Given the description of an element on the screen output the (x, y) to click on. 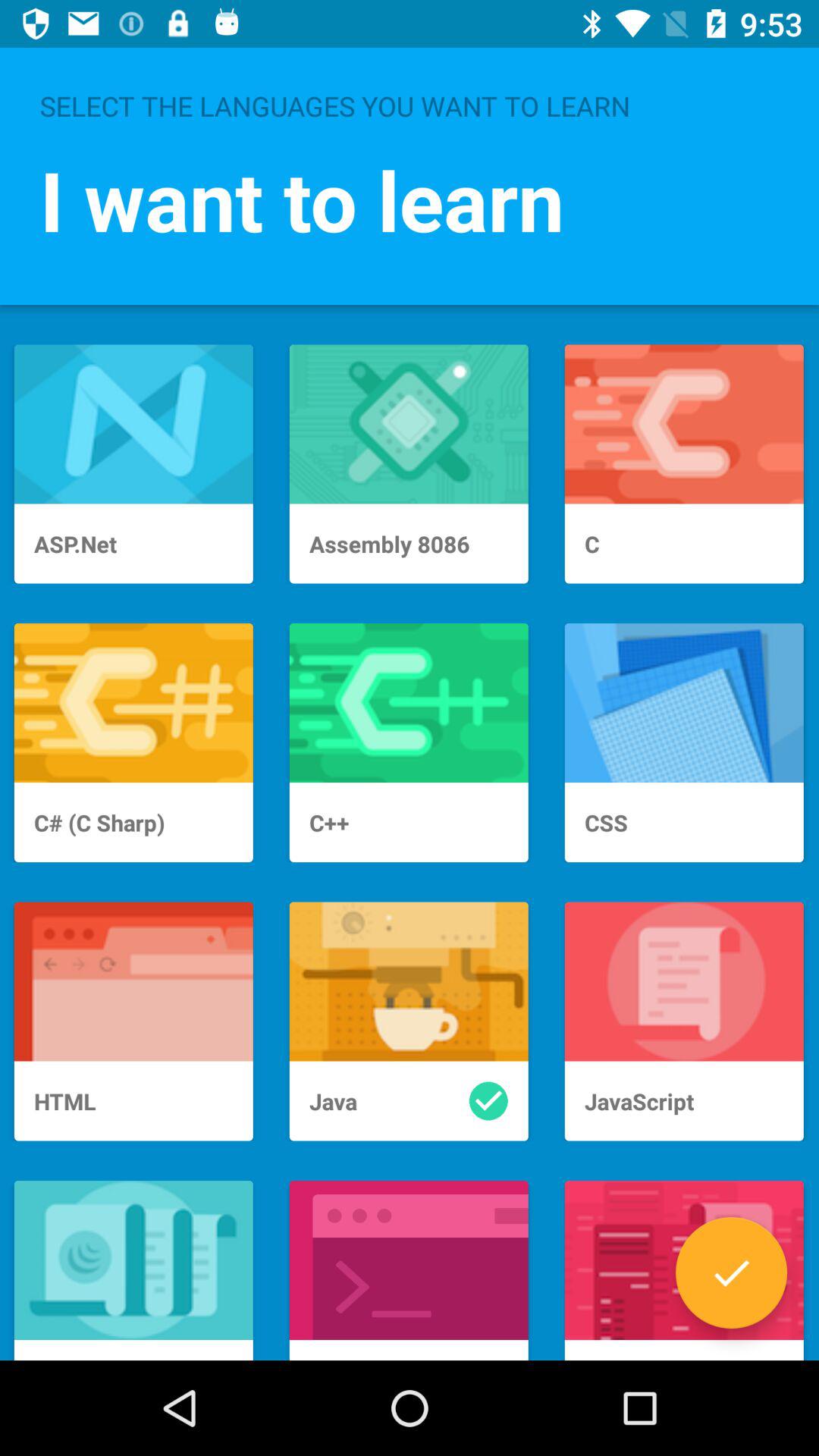
click item below the javascript (731, 1272)
